Given the description of an element on the screen output the (x, y) to click on. 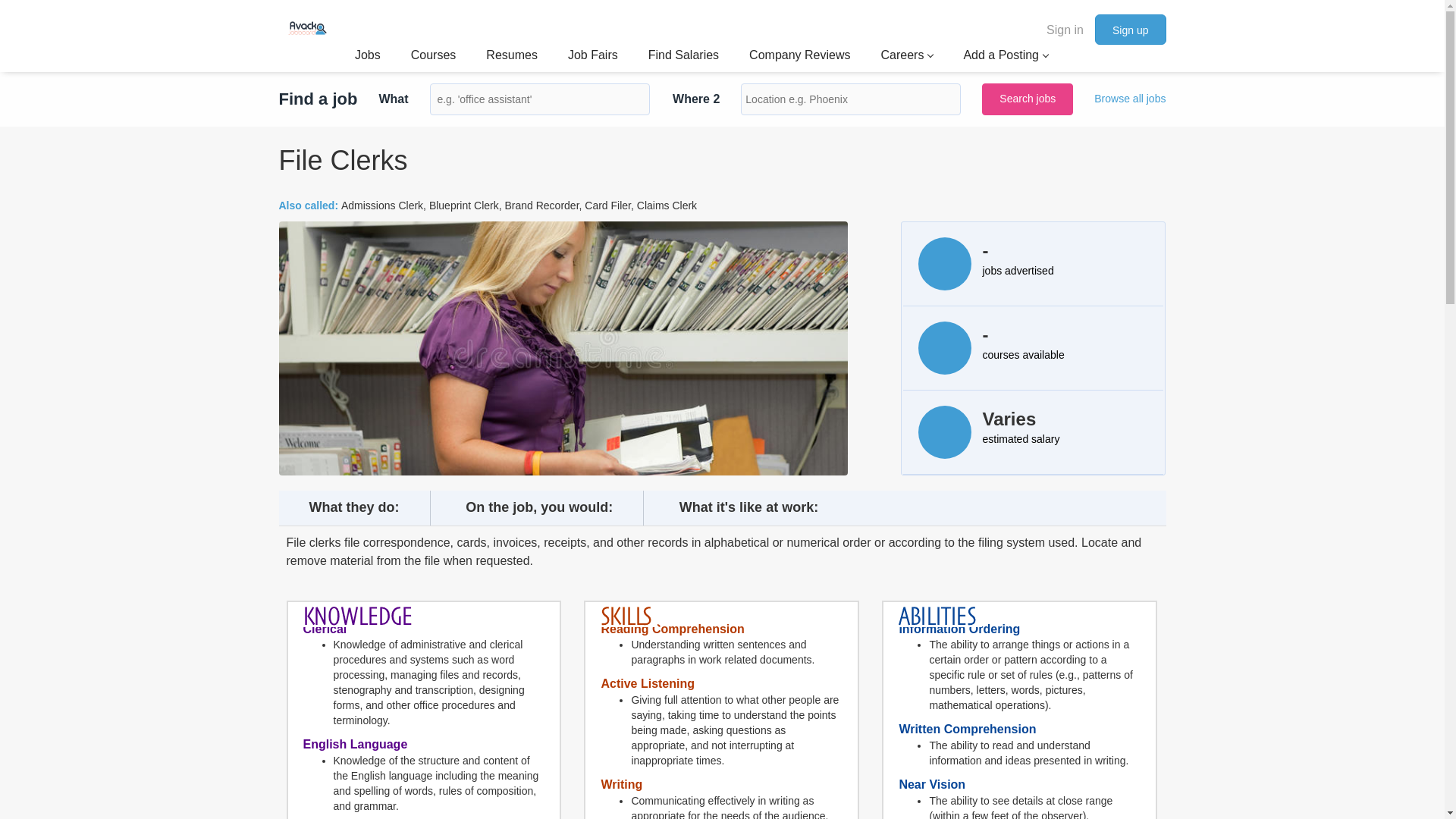
Search jobs (1027, 99)
Careers (906, 55)
Company Reviews (799, 55)
What it's like at work: (748, 507)
jobs advertised (1018, 270)
courses available (1023, 354)
Sign in (1064, 28)
Jobs (367, 55)
Search jobs (1027, 99)
Sign up (1130, 29)
Add a Posting (1005, 55)
Also called: (309, 205)
Courses (433, 55)
Browse all jobs (1130, 98)
On the job, you would: (539, 507)
